Given the description of an element on the screen output the (x, y) to click on. 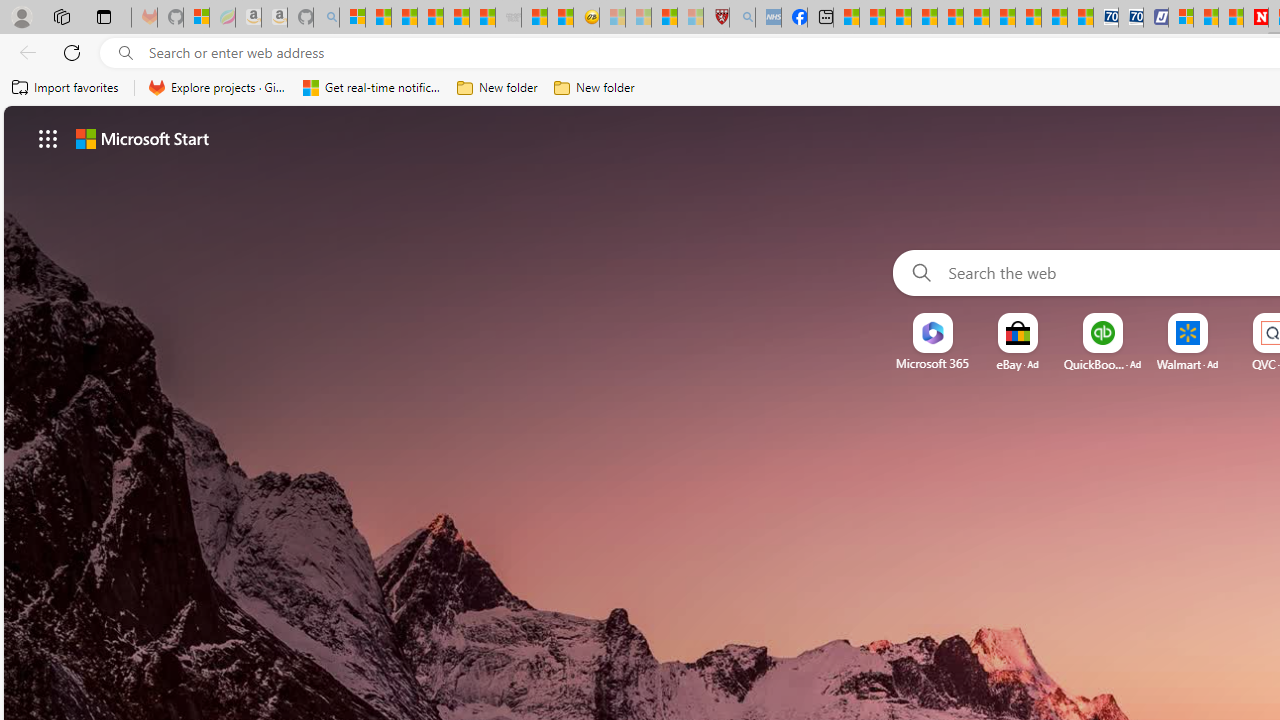
Climate Damage Becomes Too Severe To Reverse (923, 17)
Import favorites (65, 88)
